Given the description of an element on the screen output the (x, y) to click on. 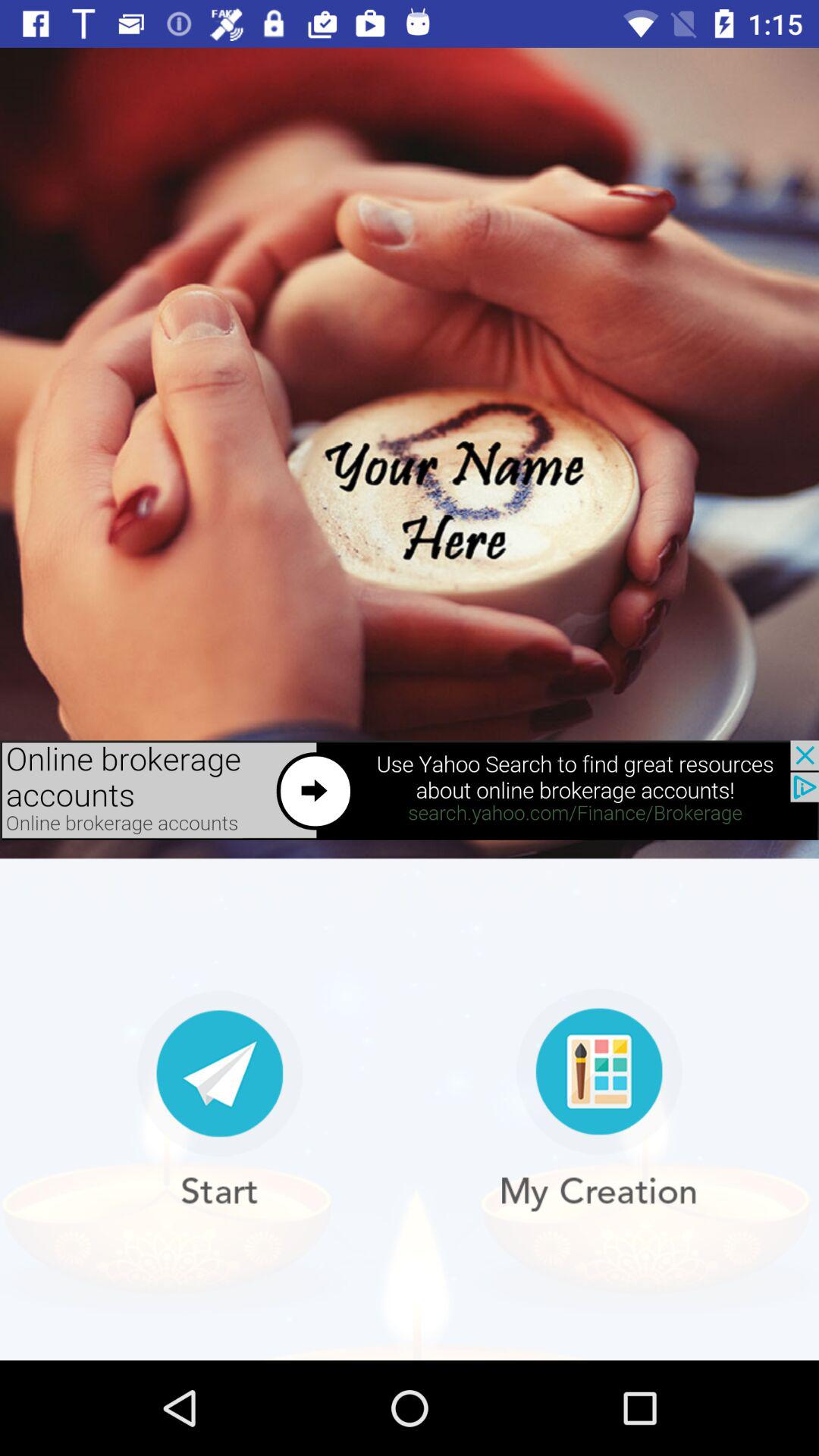
to creat new one (599, 1099)
